Given the description of an element on the screen output the (x, y) to click on. 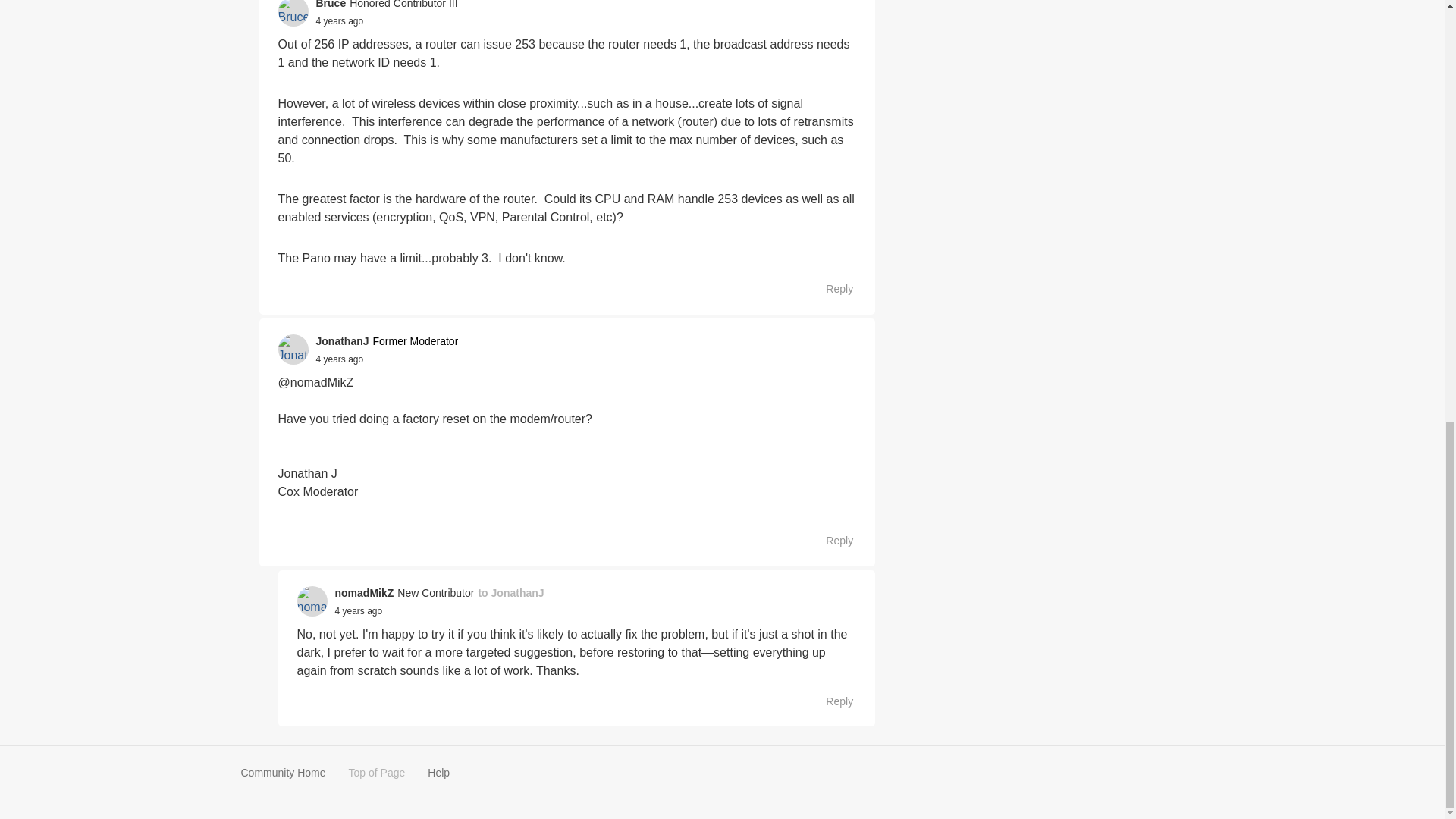
Reply (831, 289)
April 27, 2021 at 10:16 AM (338, 358)
April 28, 2021 at 8:21 AM (338, 20)
Bruce (330, 5)
4 years ago (338, 20)
April 28, 2021 at 5:59 AM (358, 611)
